Given the description of an element on the screen output the (x, y) to click on. 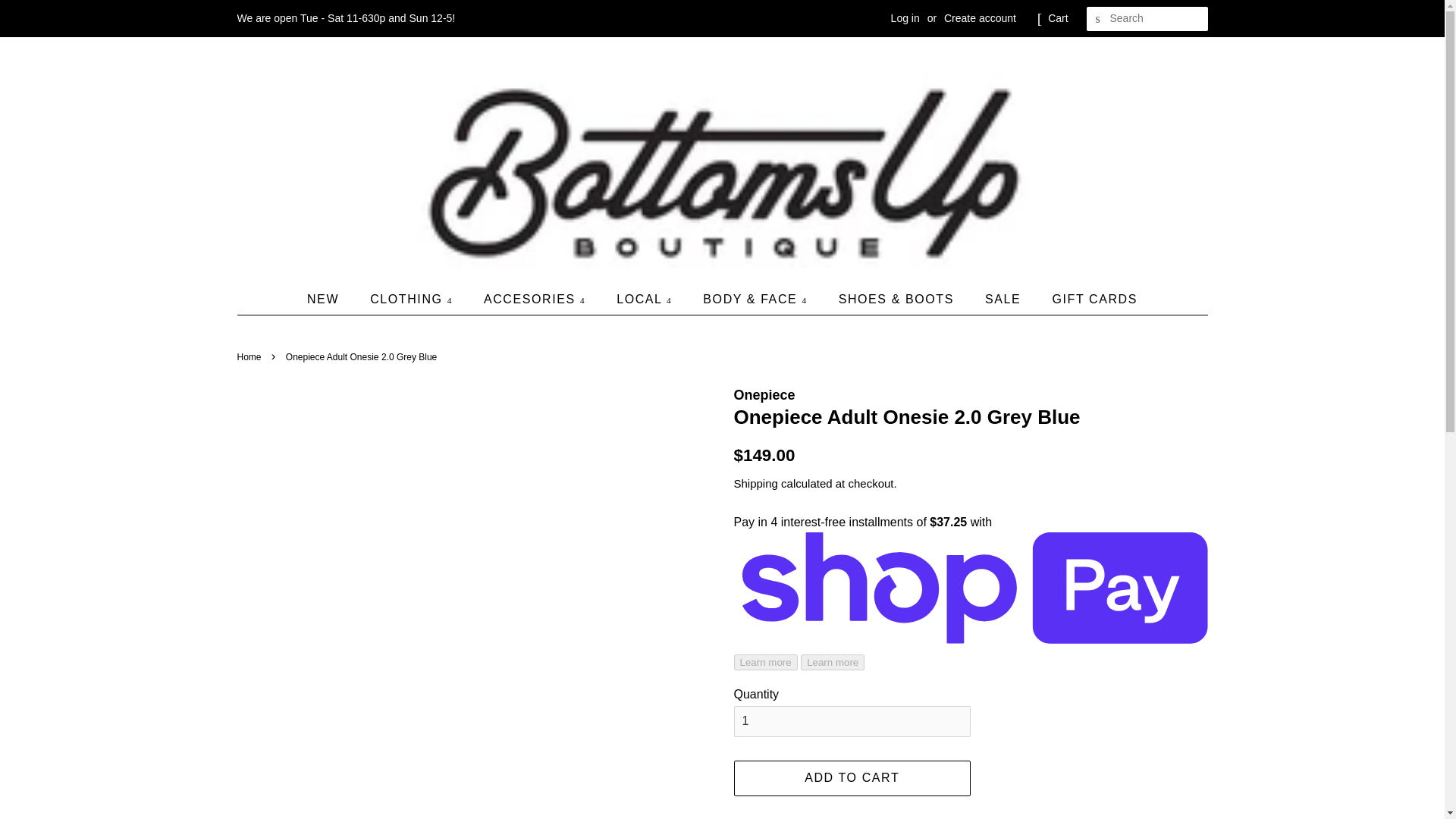
Back to the frontpage (249, 357)
Cart (1057, 18)
SEARCH (1097, 18)
1 (852, 721)
Create account (979, 18)
Log in (905, 18)
